Given the description of an element on the screen output the (x, y) to click on. 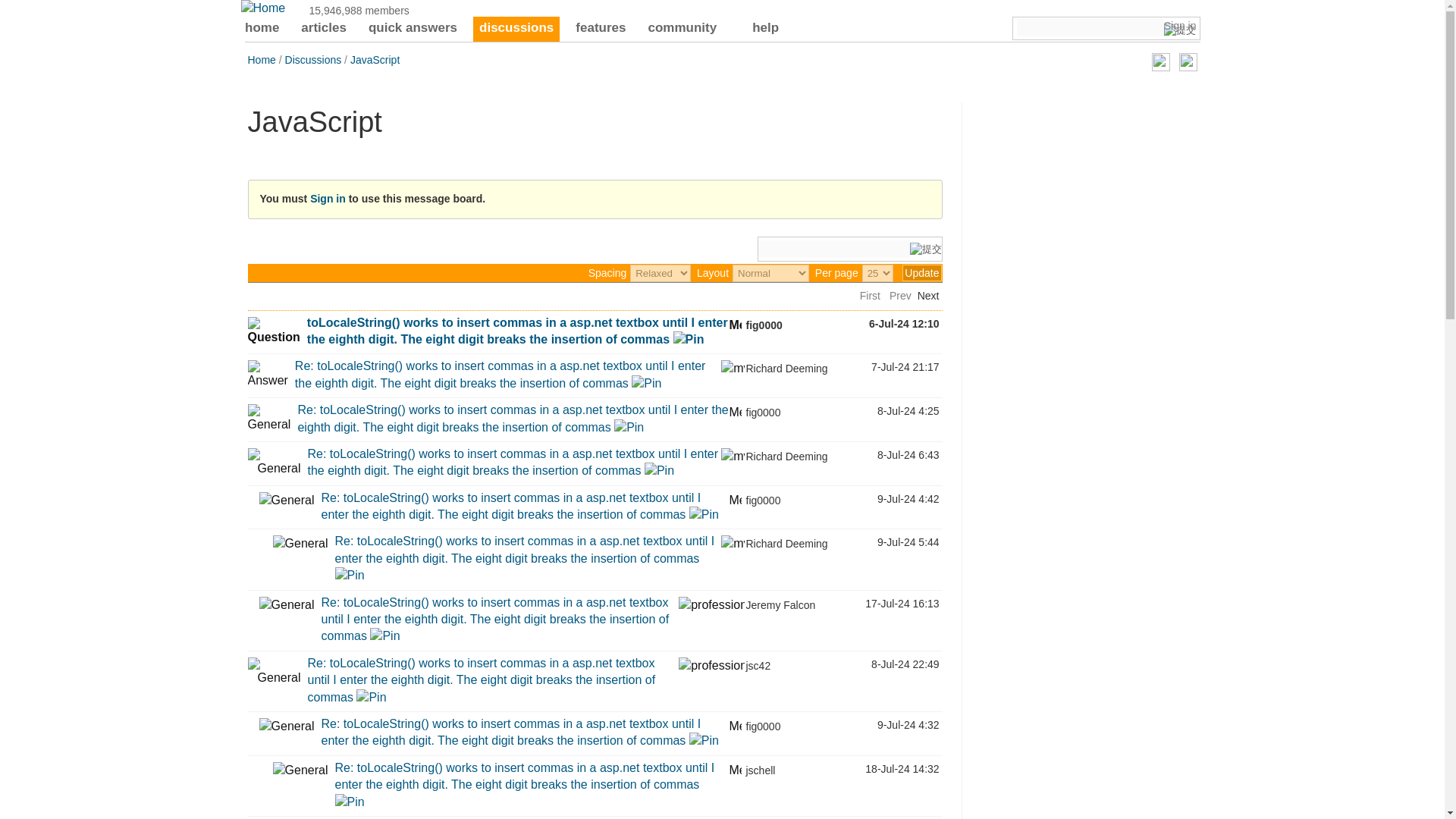
Sign in (1179, 25)
quick answers (412, 29)
Question (273, 330)
Click to pin message (688, 338)
Click to pin message (646, 382)
articles (323, 29)
home (261, 29)
discussions (516, 29)
CodeProject (263, 8)
Most Valuable Expert (732, 368)
Answer (266, 374)
Member (735, 322)
Update (921, 272)
